Given the description of an element on the screen output the (x, y) to click on. 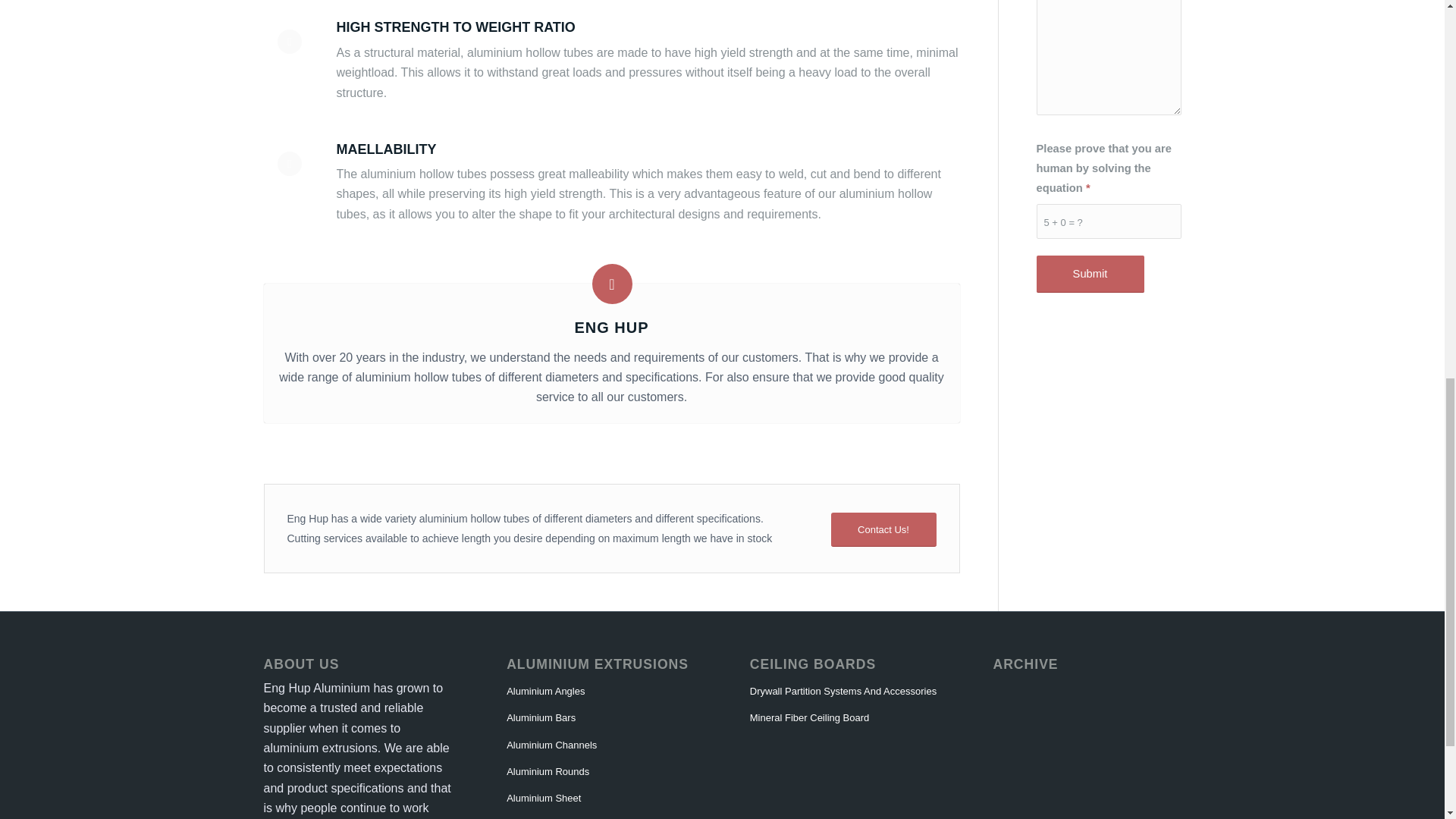
Contact Us! (883, 529)
Submit (1088, 273)
Submit (1088, 273)
